Given the description of an element on the screen output the (x, y) to click on. 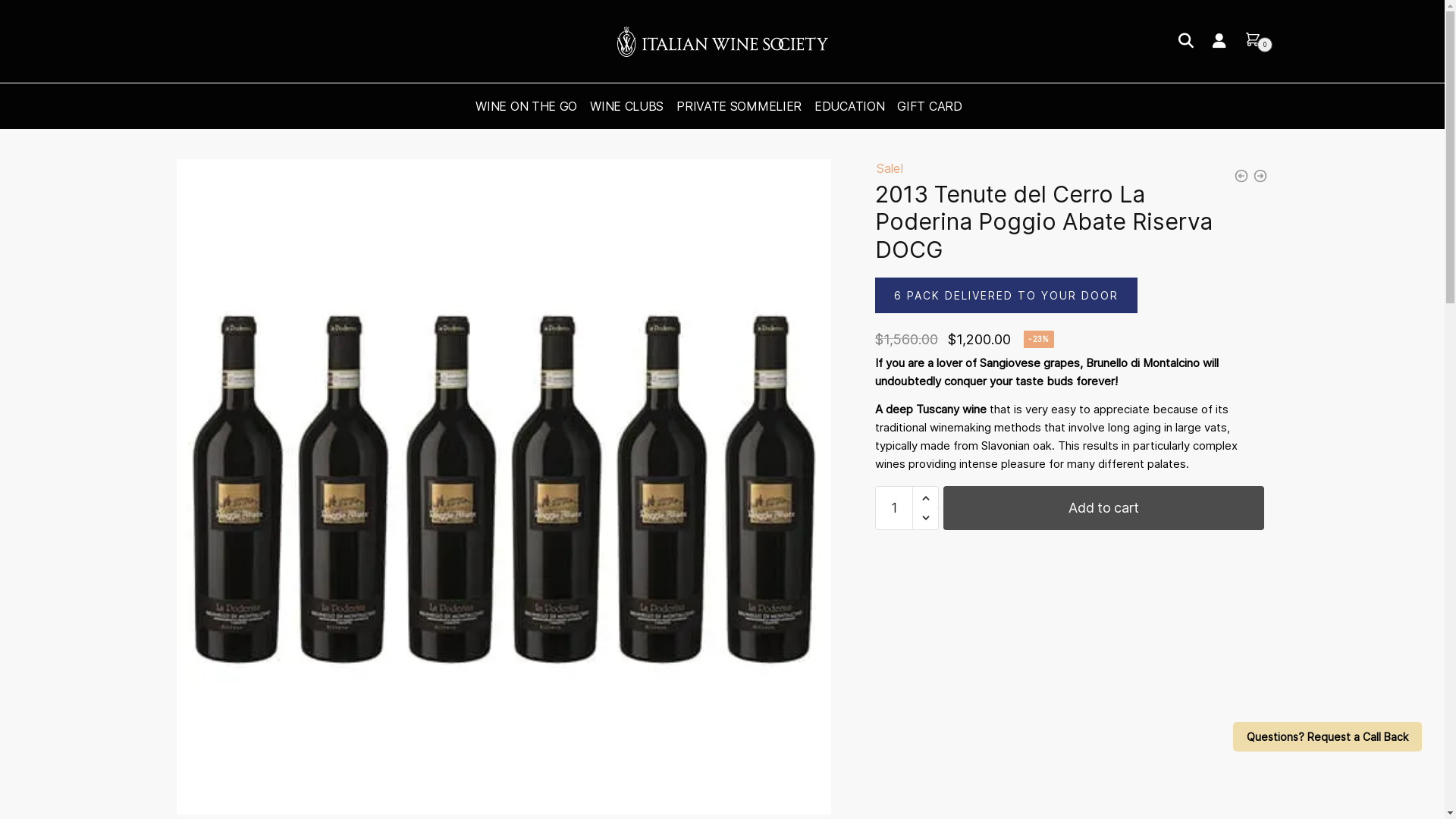
Questions? Request a Call Back Element type: text (1327, 736)
Add to cart Element type: text (1103, 508)
EDUCATION Element type: text (849, 105)
WINE ON THE GO Element type: text (529, 105)
0 Element type: text (1259, 38)
GIFT CARD Element type: text (929, 105)
PRIVATE SOMMELIER Element type: text (738, 105)
2012 Tenute del Cerro La Poderina Poggio Abate Riserva DOCG Element type: hover (503, 486)
WINE CLUBS Element type: text (626, 105)
